Given the description of an element on the screen output the (x, y) to click on. 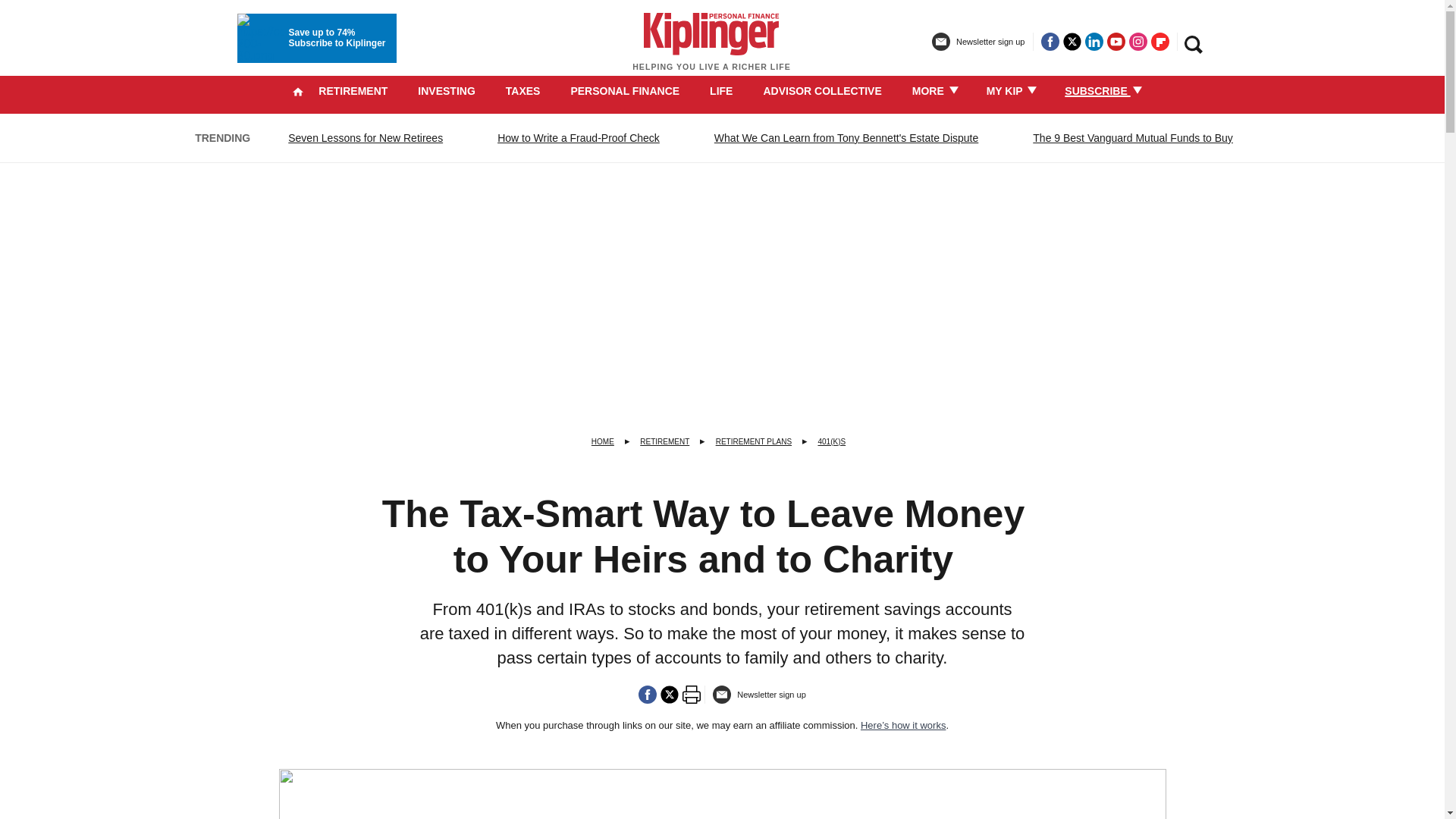
TAXES (522, 91)
RETIREMENT (352, 91)
HELPING YOU LIVE A RICHER LIFE (710, 48)
PERSONAL FINANCE (624, 91)
LIFE (721, 91)
INVESTING (445, 91)
